Given the description of an element on the screen output the (x, y) to click on. 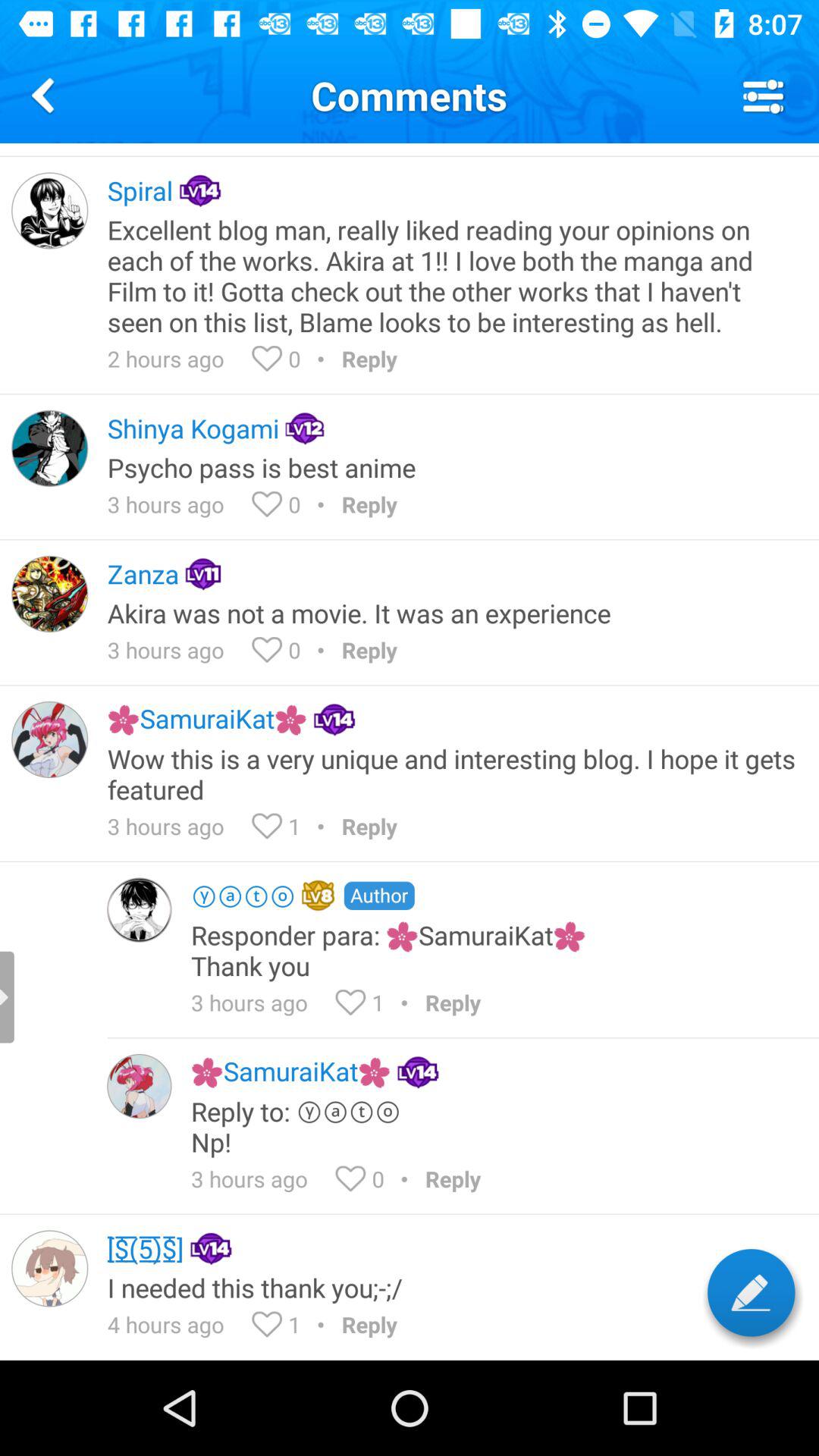
flip to the excellent blog man (453, 275)
